Given the description of an element on the screen output the (x, y) to click on. 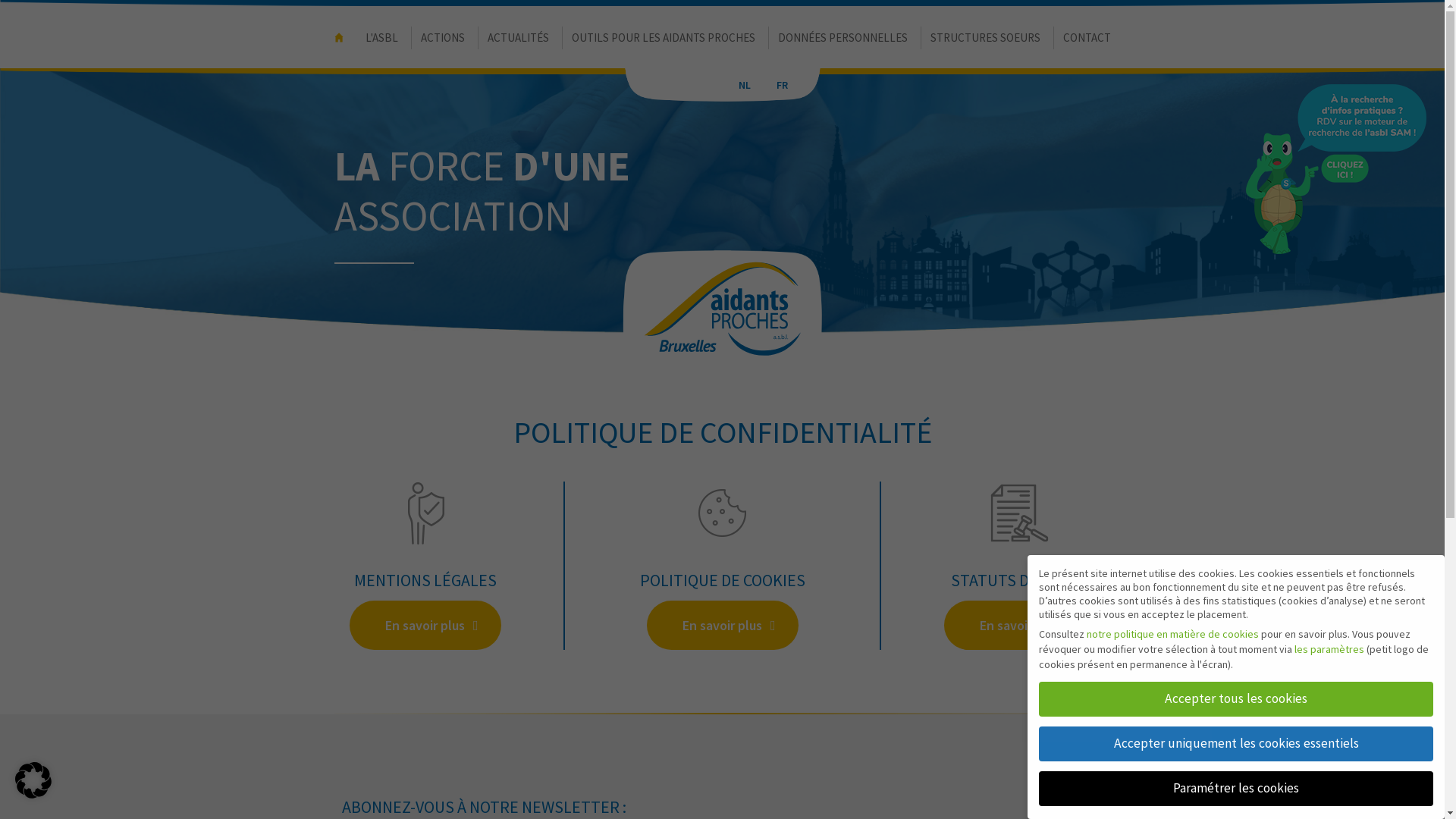
En savoir plus Element type: text (424, 624)
En savoir plus Element type: text (1019, 624)
L'ASBL Element type: text (381, 34)
NL Element type: text (743, 85)
STRUCTURES SOEURS Element type: text (985, 34)
FR Element type: text (781, 85)
En savoir plus Element type: text (721, 624)
CONTACT Element type: text (1086, 34)
Accepter uniquement les cookies essentiels Element type: text (1235, 743)
ACTIONS Element type: text (442, 34)
OUTILS POUR LES AIDANTS PROCHES Element type: text (663, 34)
Accepter tous les cookies Element type: text (1235, 698)
